Given the description of an element on the screen output the (x, y) to click on. 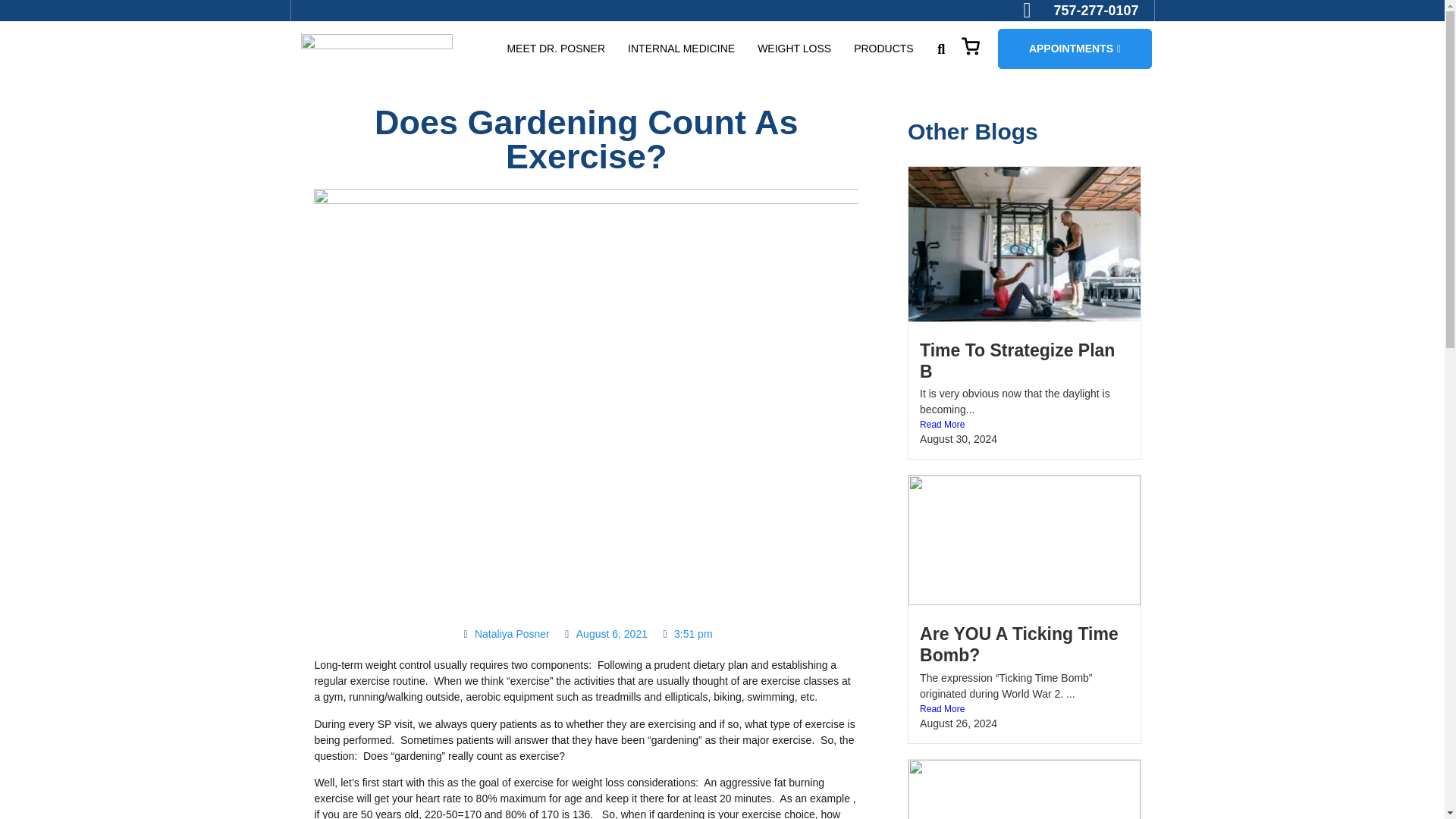
WEIGHT LOSS (794, 48)
Time To Strategize Plan B (1017, 360)
MEET DR. POSNER (555, 48)
PRODUCTS (883, 48)
757-277-0107 (1080, 10)
INTERNAL MEDICINE (681, 48)
APPOINTMENTS (1074, 48)
Are YOU A Ticking Time Bomb? (1019, 644)
